Given the description of an element on the screen output the (x, y) to click on. 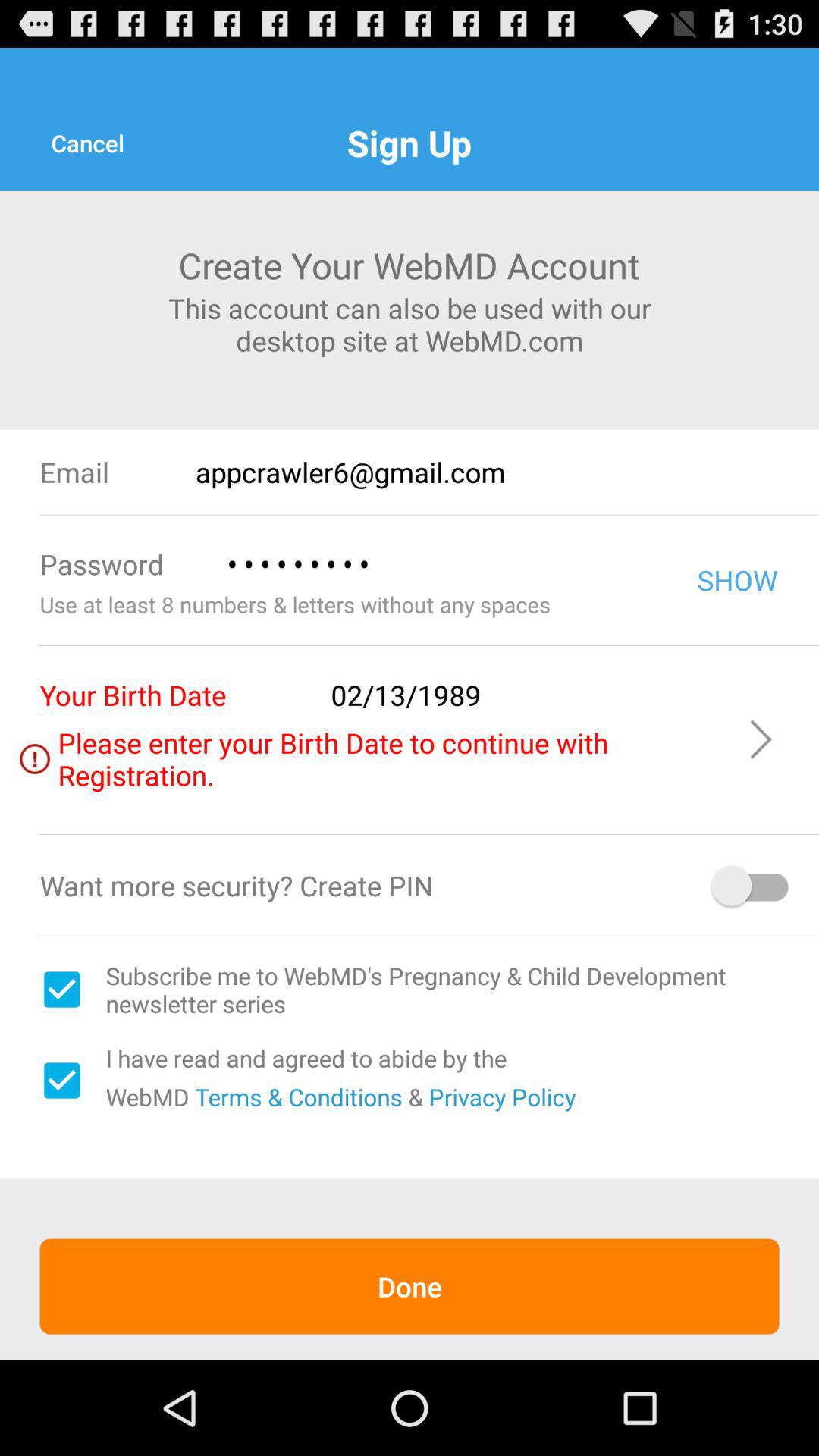
open item next to i have read item (61, 1080)
